Given the description of an element on the screen output the (x, y) to click on. 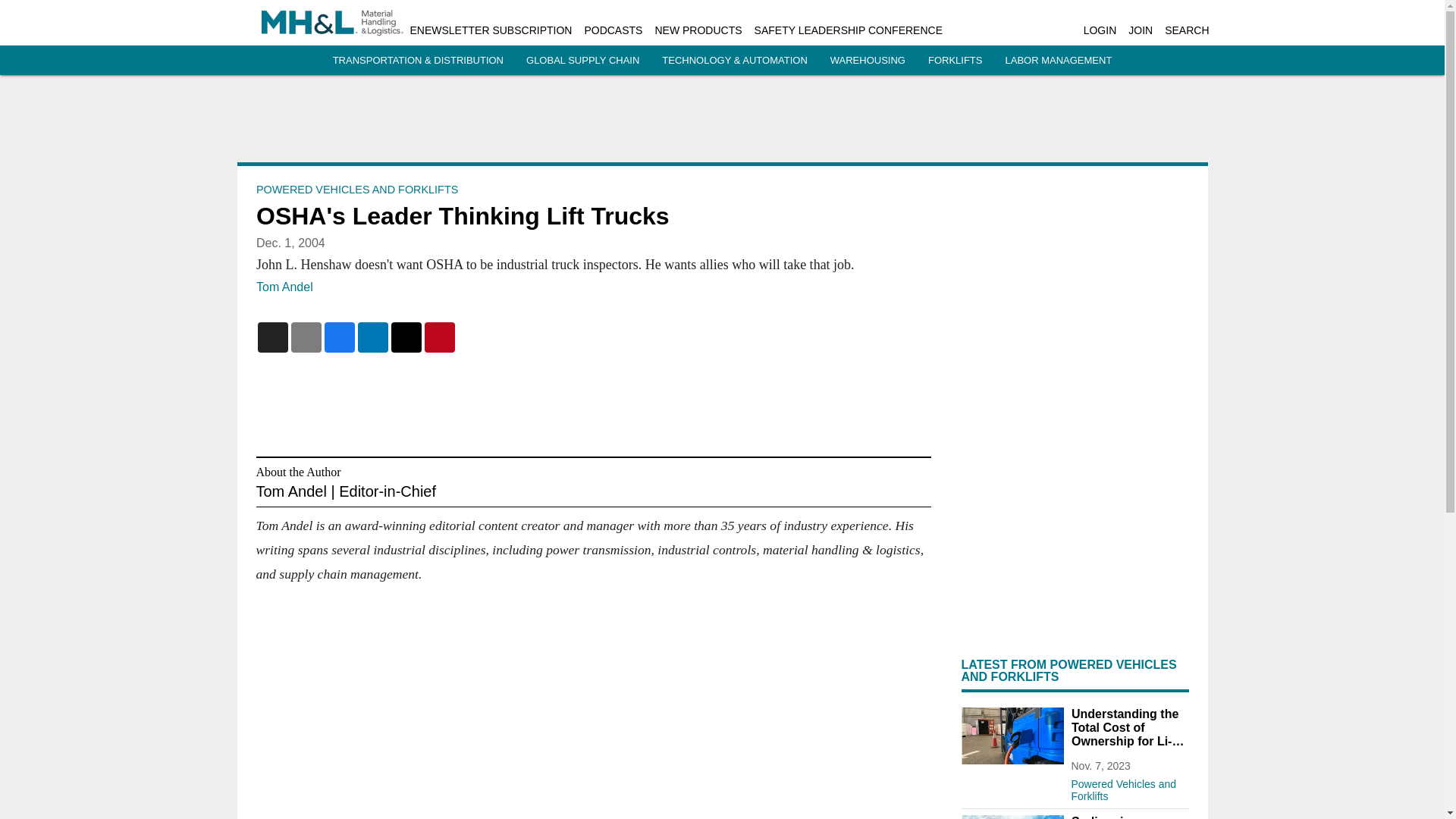
SAFETY LEADERSHIP CONFERENCE (848, 30)
SEARCH (1186, 30)
PODCASTS (612, 30)
LOGIN (1099, 30)
FORKLIFTS (955, 60)
Tom Andel (284, 286)
POWERED VEHICLES AND FORKLIFTS (357, 189)
ENEWSLETTER SUBSCRIPTION (490, 30)
Electric Forklift Charging (1012, 735)
